Given the description of an element on the screen output the (x, y) to click on. 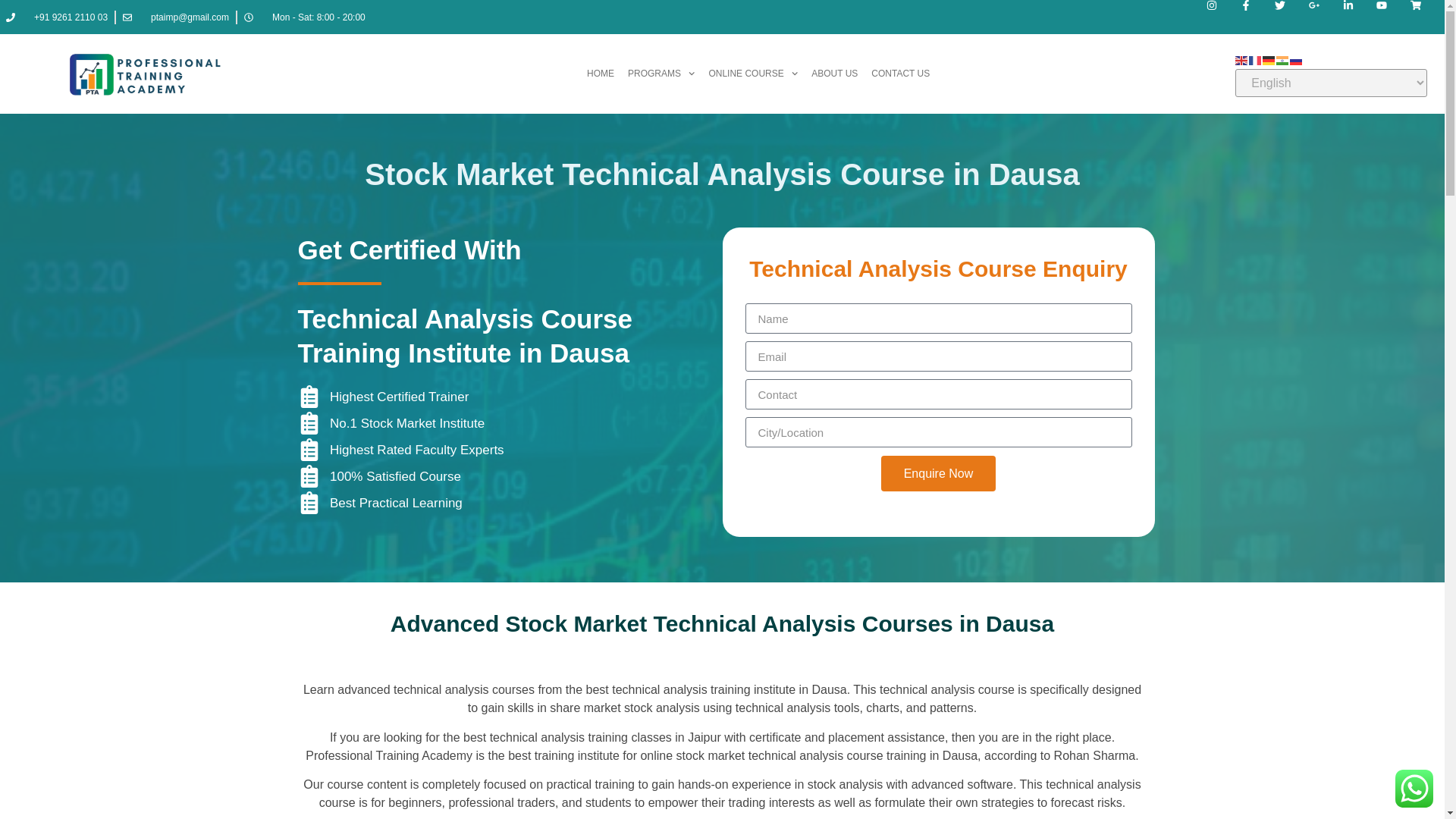
English (1241, 59)
HOME (600, 73)
Hindi (1283, 59)
German (1269, 59)
CONTACT US (900, 73)
French (1255, 59)
PROGRAMS (661, 73)
ABOUT US (834, 73)
ONLINE COURSE (753, 73)
Russian (1296, 59)
